Given the description of an element on the screen output the (x, y) to click on. 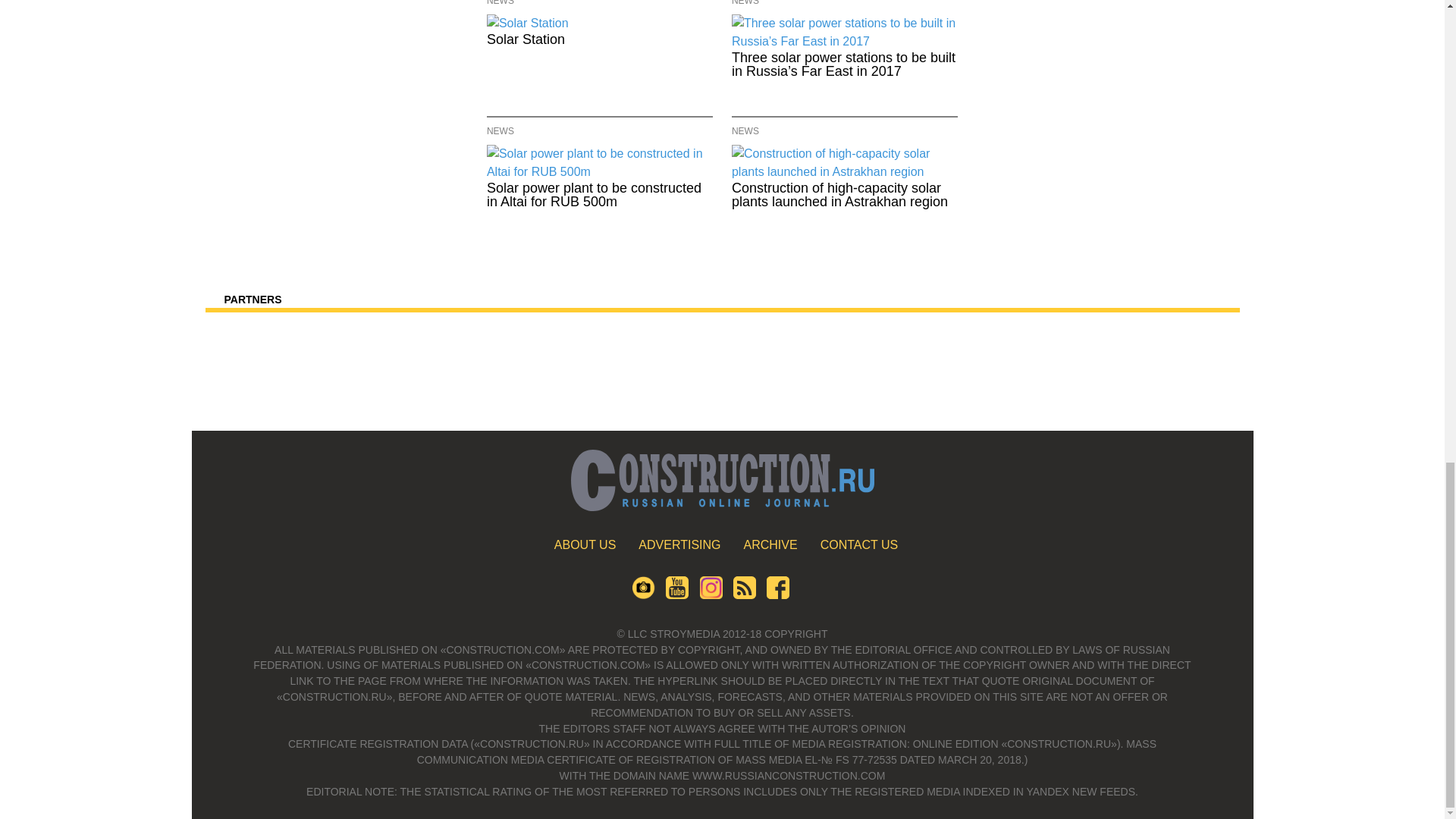
Photobank (643, 594)
Facebook (778, 594)
YouTube (676, 594)
Instagram (710, 594)
